Given the description of an element on the screen output the (x, y) to click on. 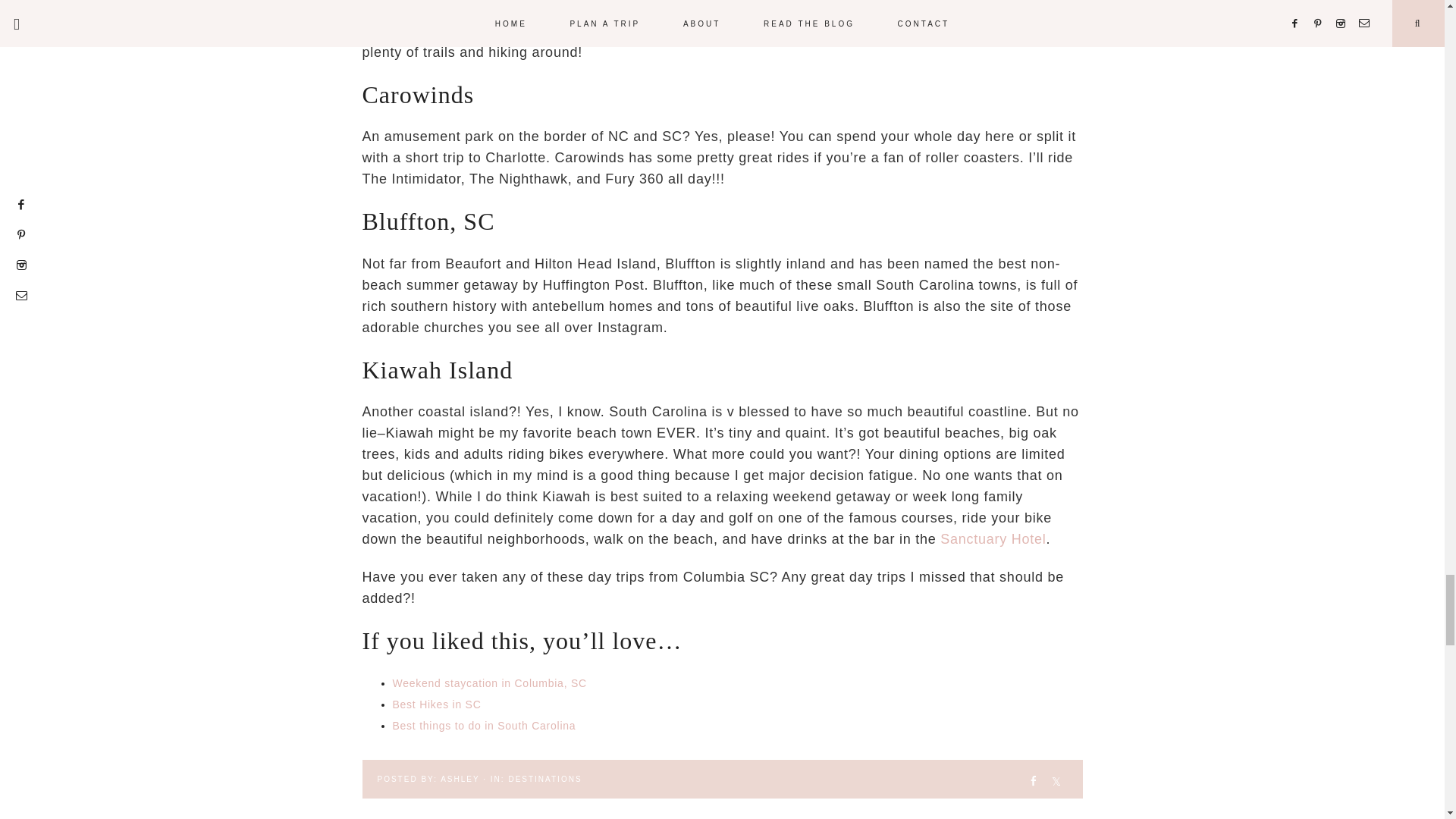
Sanctuary Hotel (992, 539)
